Given the description of an element on the screen output the (x, y) to click on. 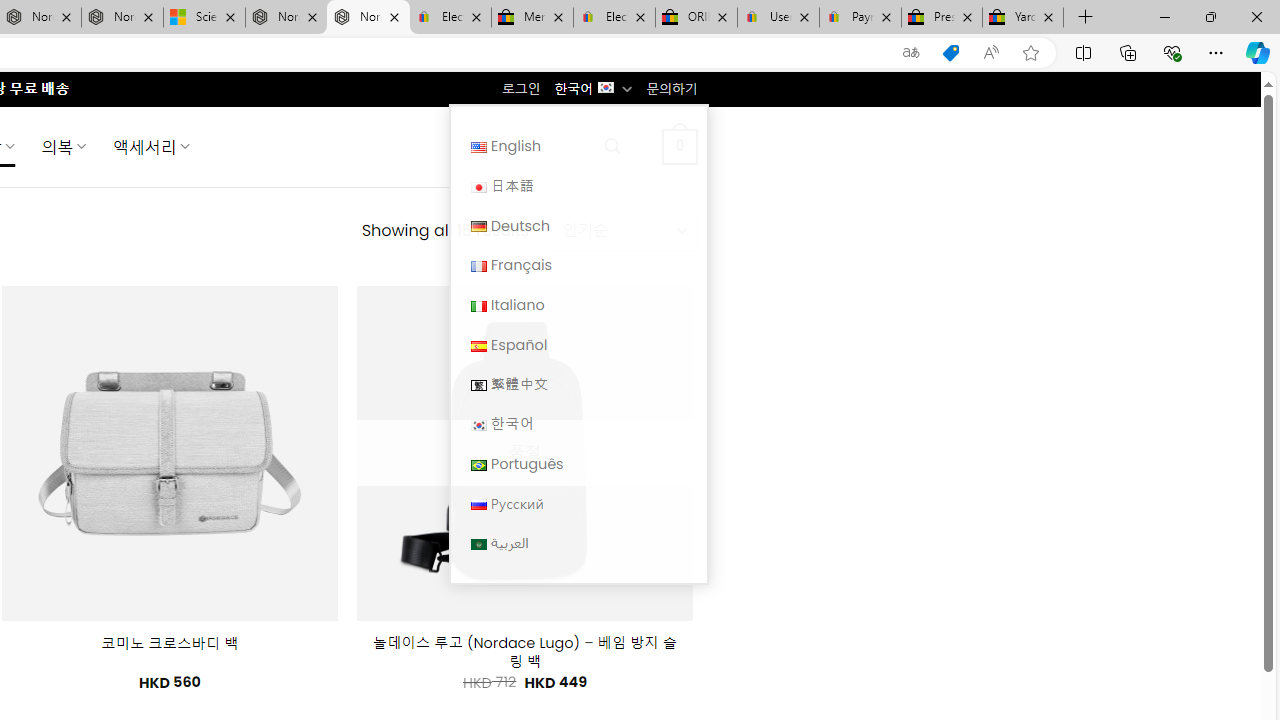
This site has coupons! Shopping in Microsoft Edge (950, 53)
